Given the description of an element on the screen output the (x, y) to click on. 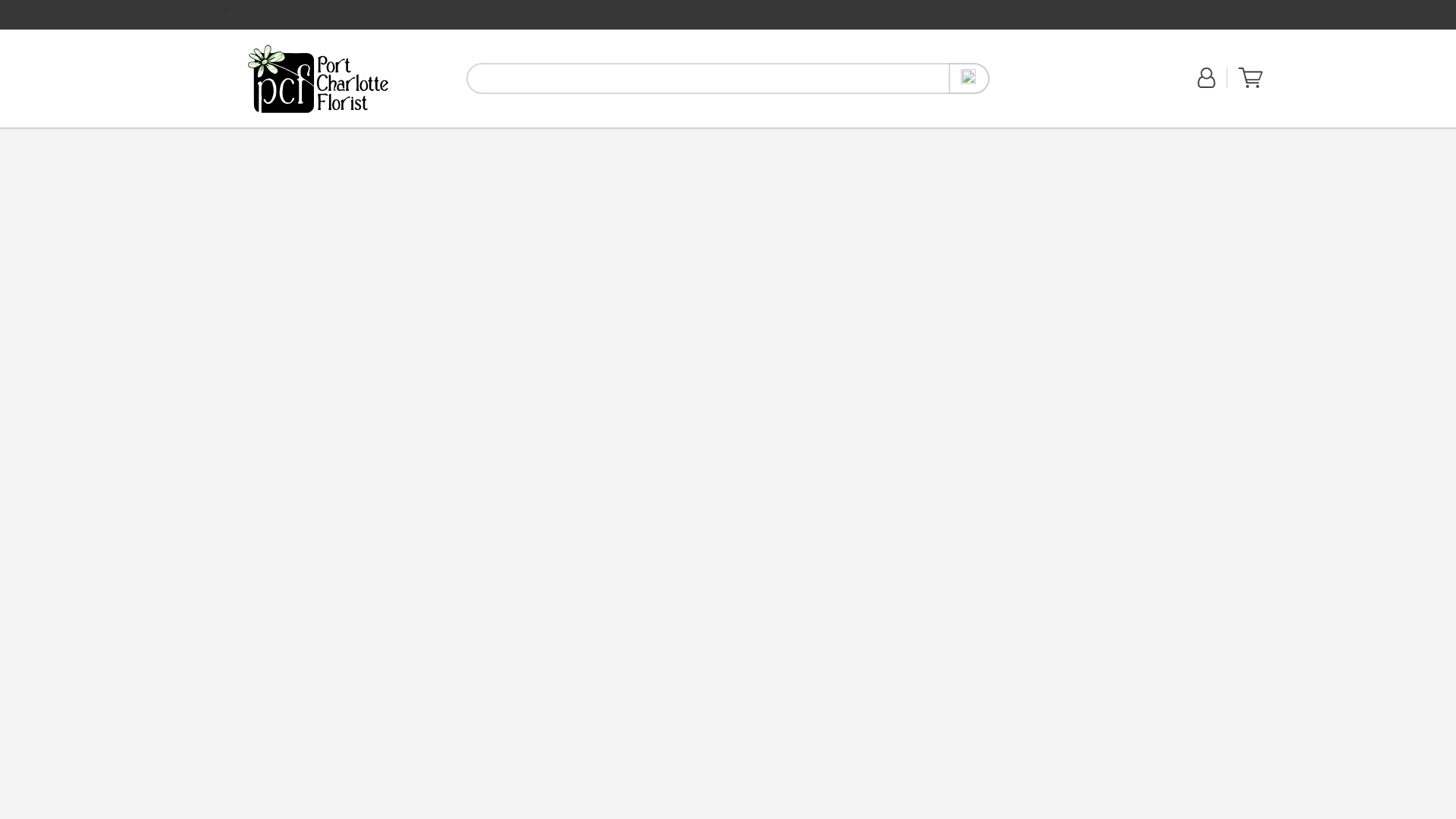
Back to the Home Page (318, 78)
Just Because (318, 78)
Sympathy (377, 135)
View Your Shopping Cart (427, 135)
Birthday (1250, 77)
Search (292, 135)
View Your Shopping Cart (969, 78)
Set ZIP Code (1250, 84)
Get Well (1044, 86)
Port Charlotte Florist Logo (330, 135)
Occasions (317, 79)
